Given the description of an element on the screen output the (x, y) to click on. 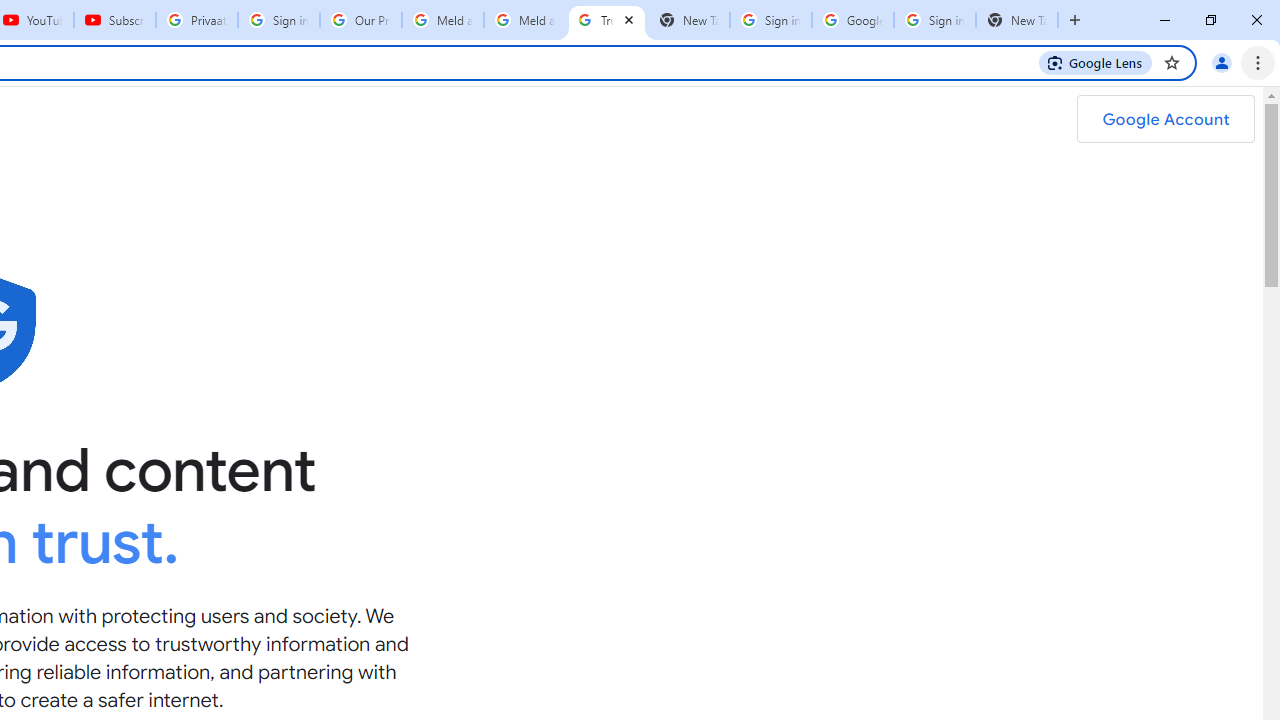
Search with Google Lens (1095, 62)
Sign in - Google Accounts (770, 20)
Sign in - Google Accounts (278, 20)
Google Cybersecurity Innovations - Google Safety Center (852, 20)
New Tab (1016, 20)
Subscriptions - YouTube (115, 20)
Sign in - Google Accounts (934, 20)
